Given the description of an element on the screen output the (x, y) to click on. 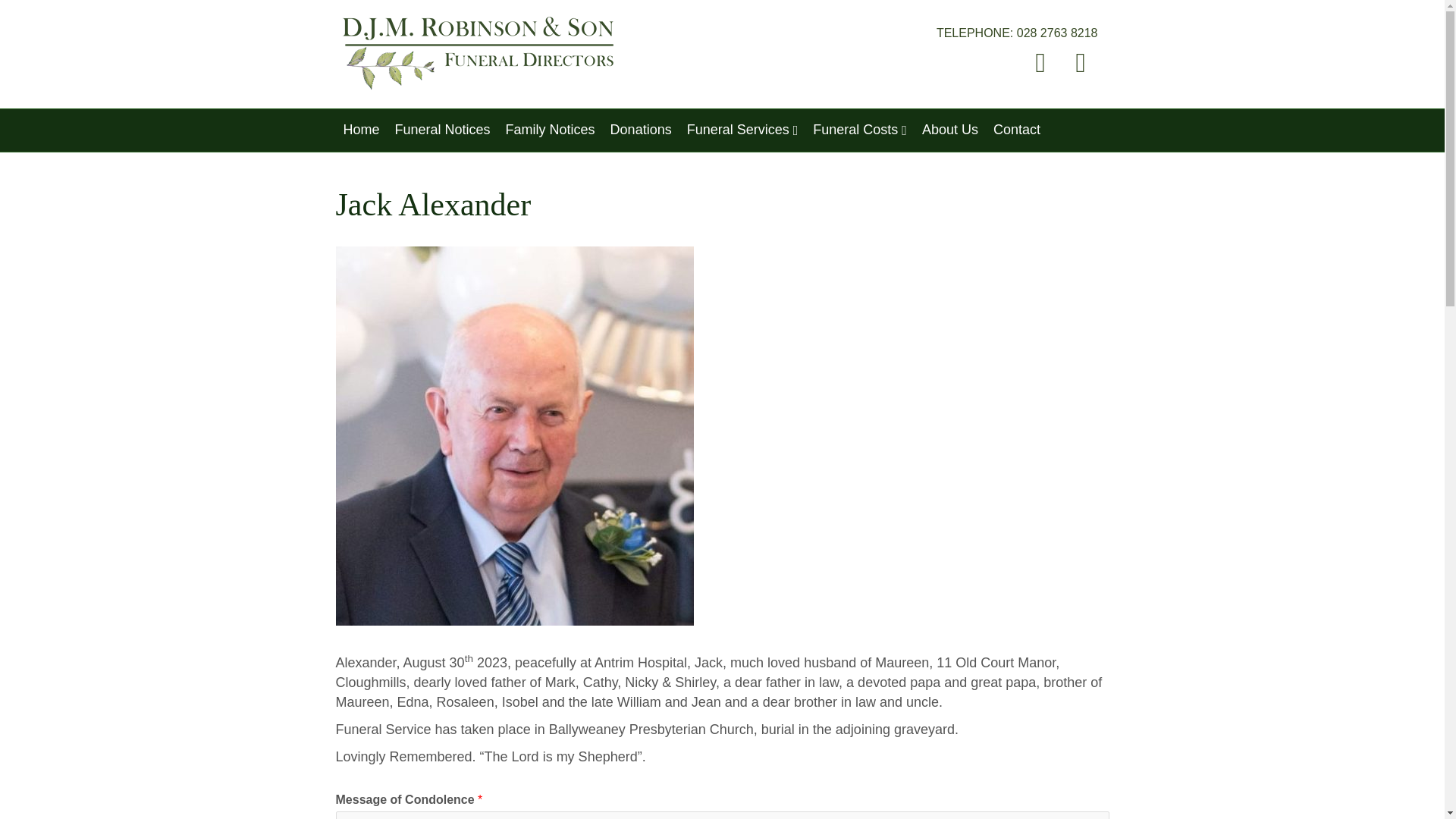
Contact (1016, 129)
Funeral Services (742, 129)
Funeral Notices (442, 129)
Family Notices (549, 129)
Google-maps (1079, 62)
Funeral Costs (859, 129)
Facebook (1040, 62)
Home (360, 129)
About Us (949, 129)
Donations (640, 129)
